Given the description of an element on the screen output the (x, y) to click on. 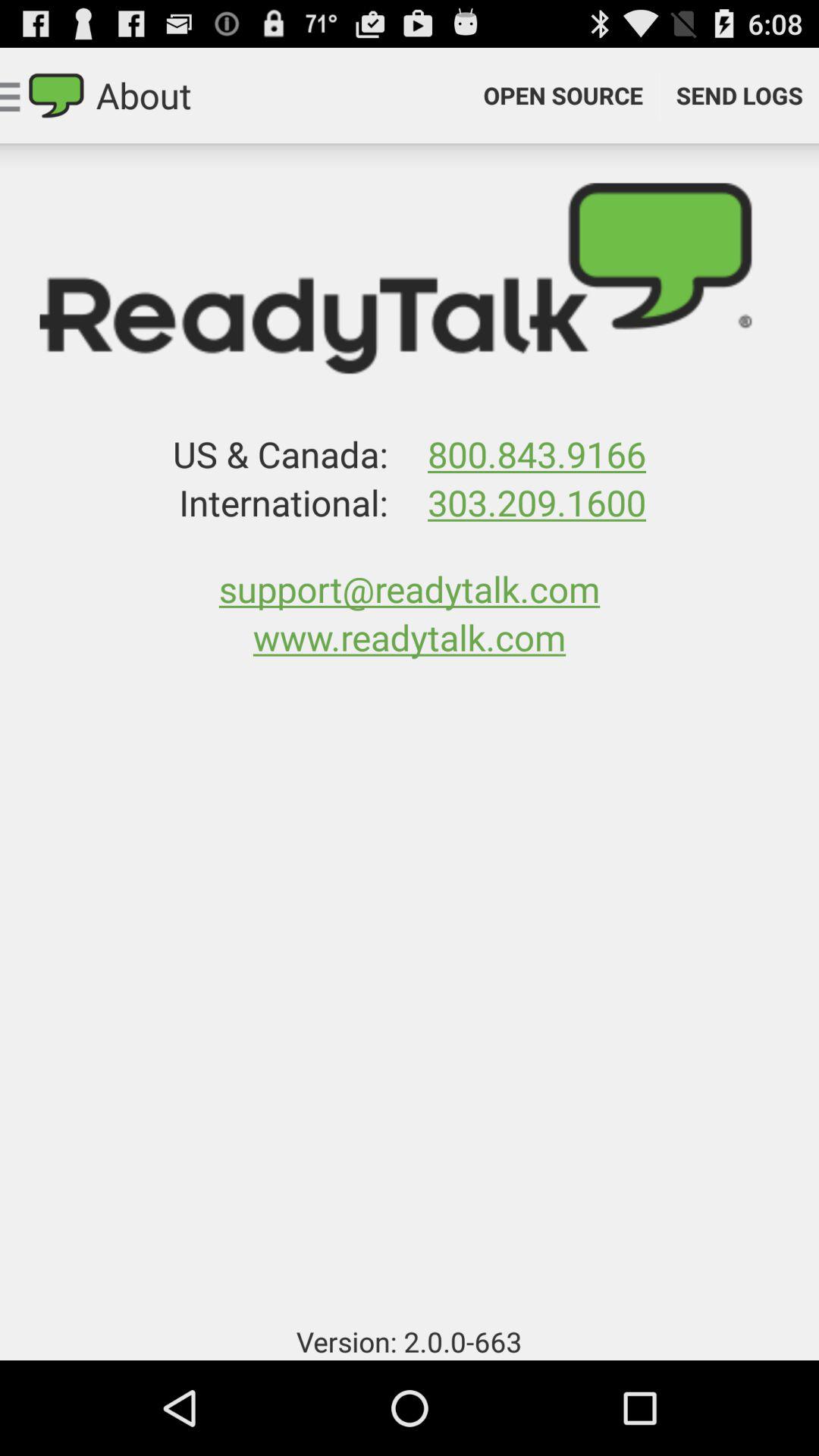
turn on the item to the left of send logs item (563, 95)
